Given the description of an element on the screen output the (x, y) to click on. 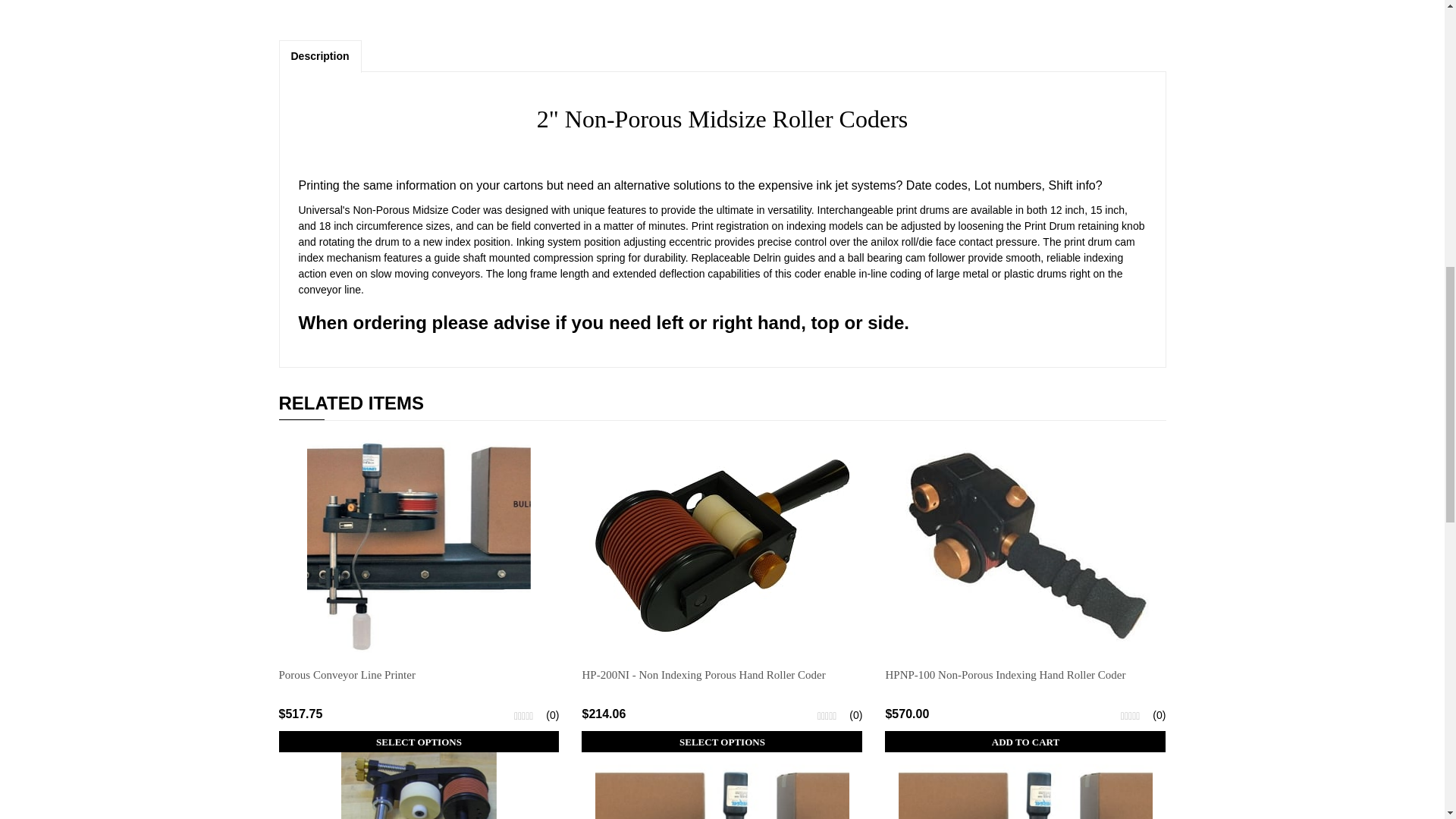
PayPal (828, 4)
